Given the description of an element on the screen output the (x, y) to click on. 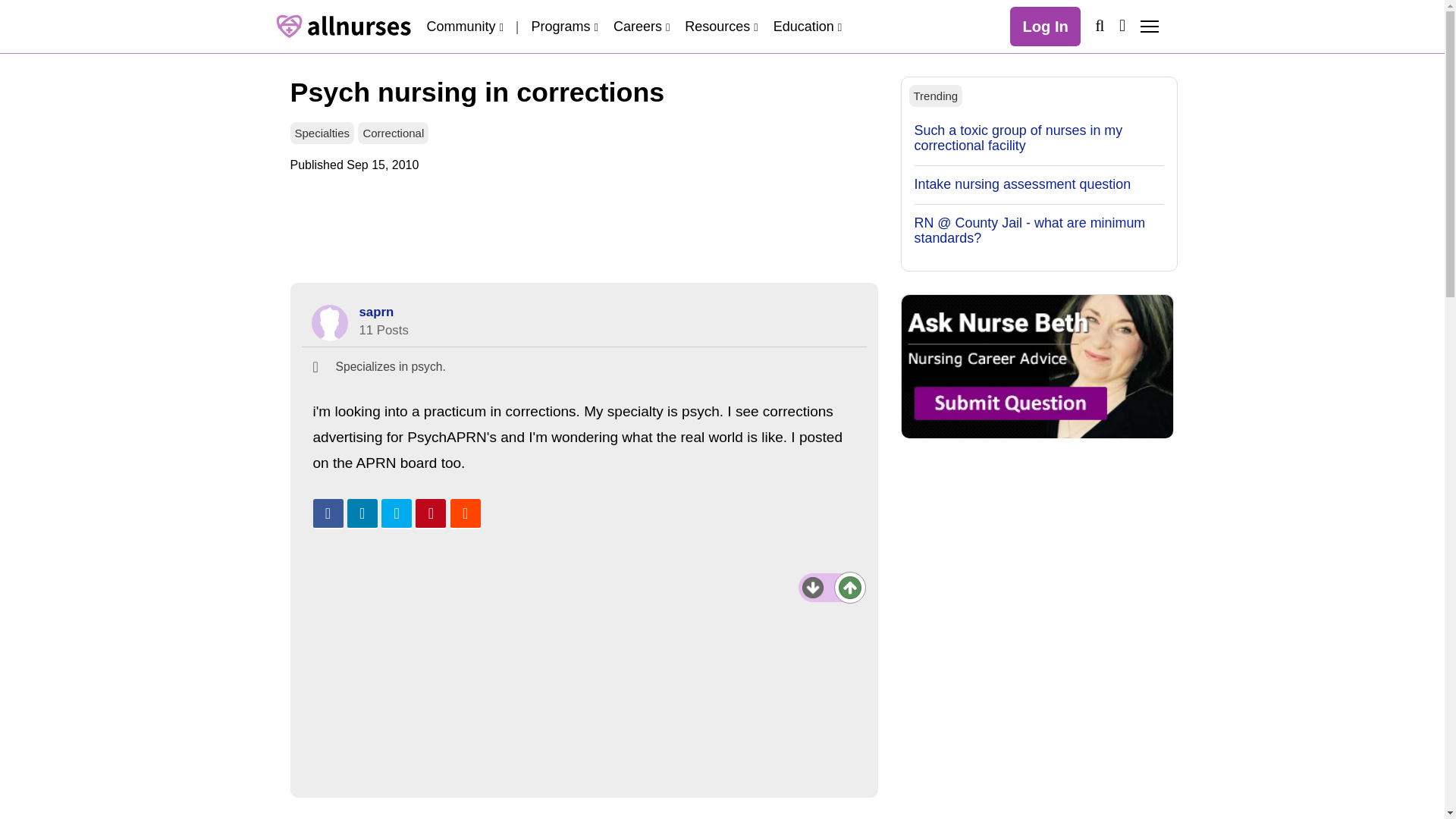
Share on Twitter (396, 513)
Programs (564, 26)
Up Vote (849, 587)
Share on Pinterest (429, 513)
Share on Reddit (464, 513)
Down Vote (813, 587)
Community (465, 26)
Up-to-date information on nursing programs in the U.S. (564, 26)
Share on Facebook (327, 513)
Go to saprn's profile (376, 311)
Go to saprn's profile (329, 322)
Discover Latest Content (1122, 25)
